Given the description of an element on the screen output the (x, y) to click on. 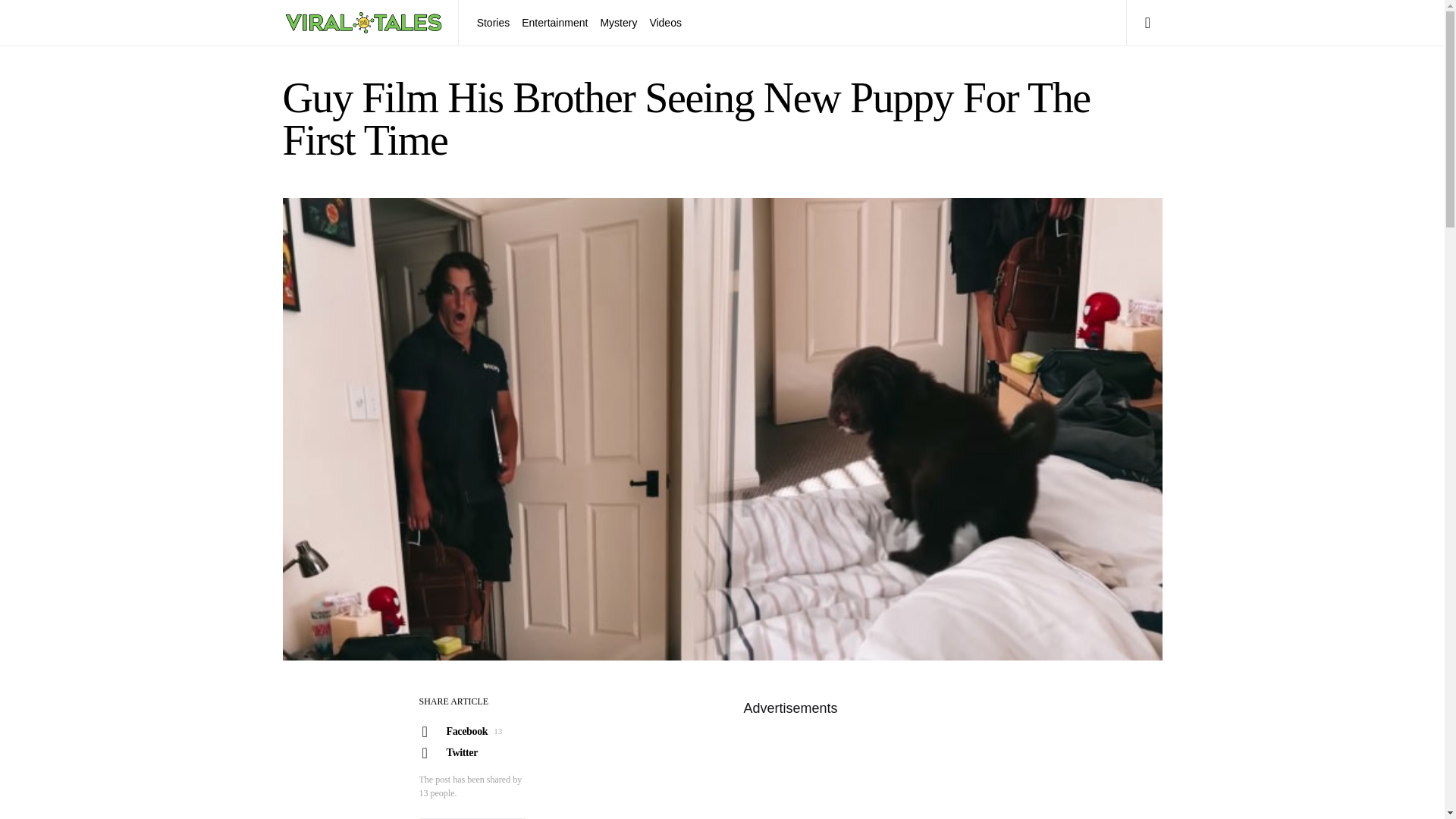
Mystery (618, 22)
Advertisement (470, 731)
Twitter (789, 769)
Entertainment (470, 752)
